Given the description of an element on the screen output the (x, y) to click on. 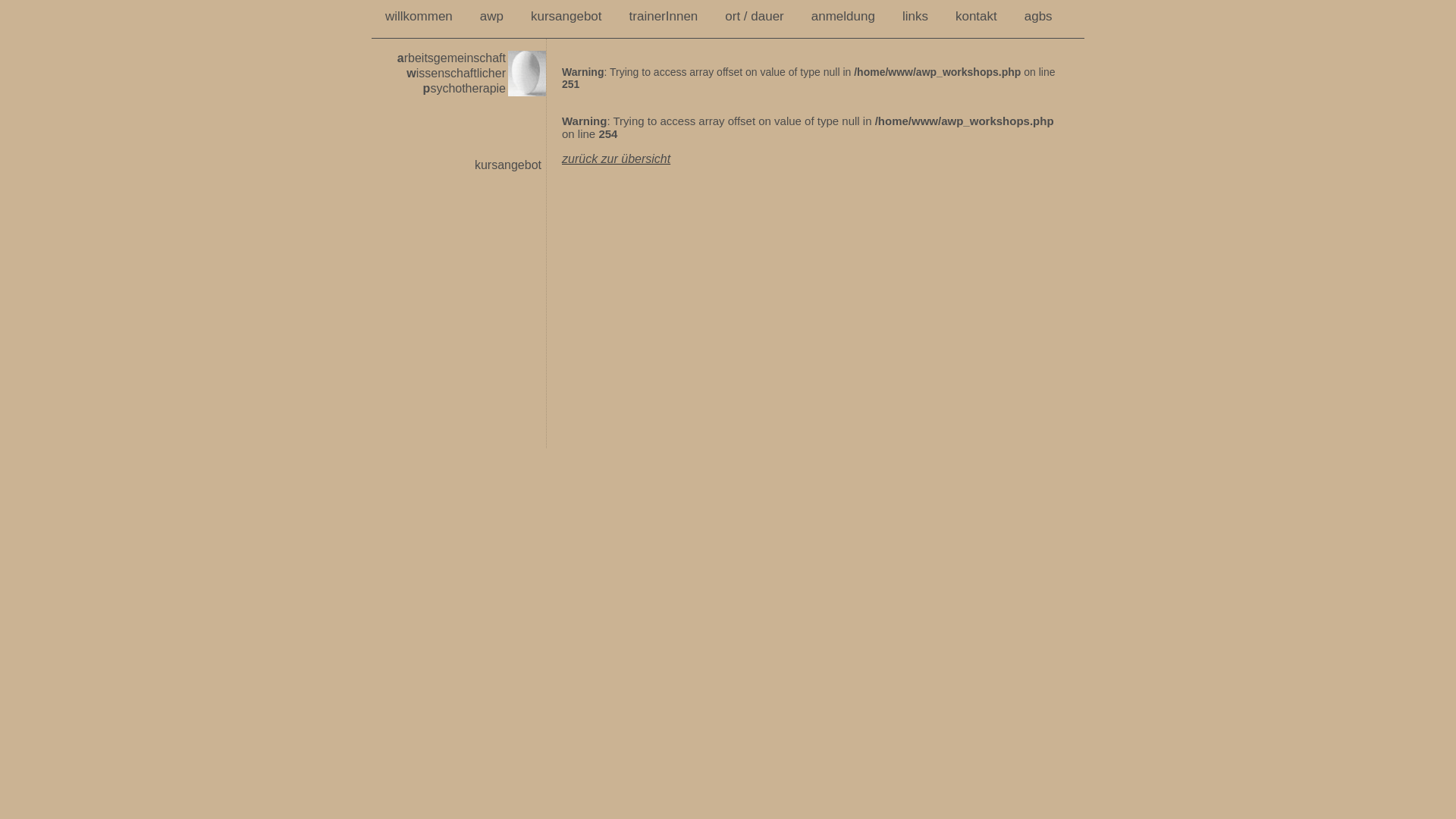
kontakt Element type: text (976, 16)
links Element type: text (915, 16)
awp Element type: text (491, 16)
trainerInnen Element type: text (663, 16)
kursangebot Element type: text (566, 16)
willkommen Element type: text (418, 16)
ort / dauer Element type: text (754, 16)
agbs Element type: text (1038, 16)
anmeldung Element type: text (843, 16)
